Given the description of an element on the screen output the (x, y) to click on. 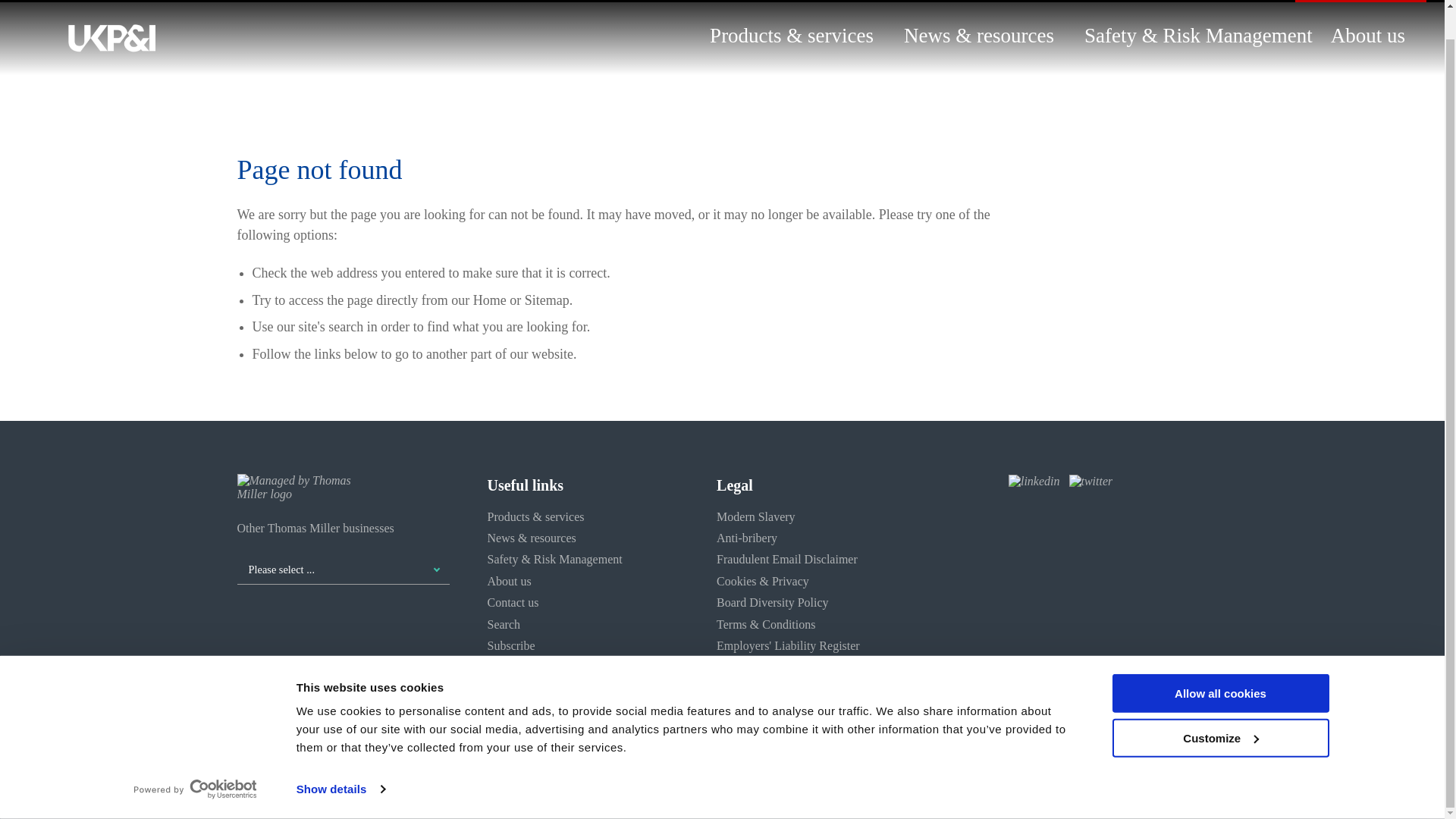
Customize (1219, 708)
Allow all cookies (1219, 663)
Show details (340, 759)
